Given the description of an element on the screen output the (x, y) to click on. 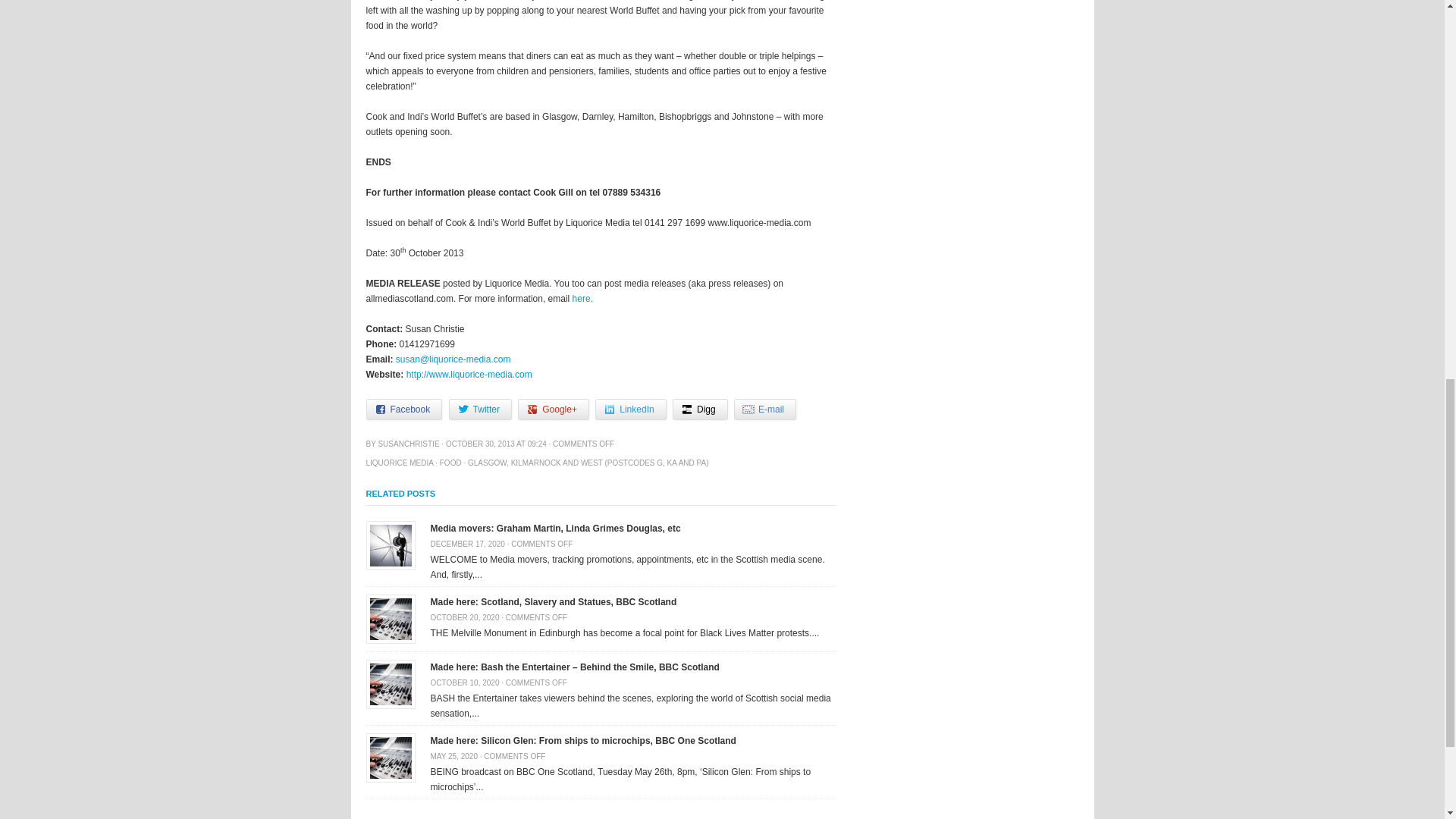
Share this article on LinkedIn (630, 409)
Share this article on Digg (700, 409)
Share this article on Facebook (403, 409)
Share this article on Twitter (480, 409)
